Given the description of an element on the screen output the (x, y) to click on. 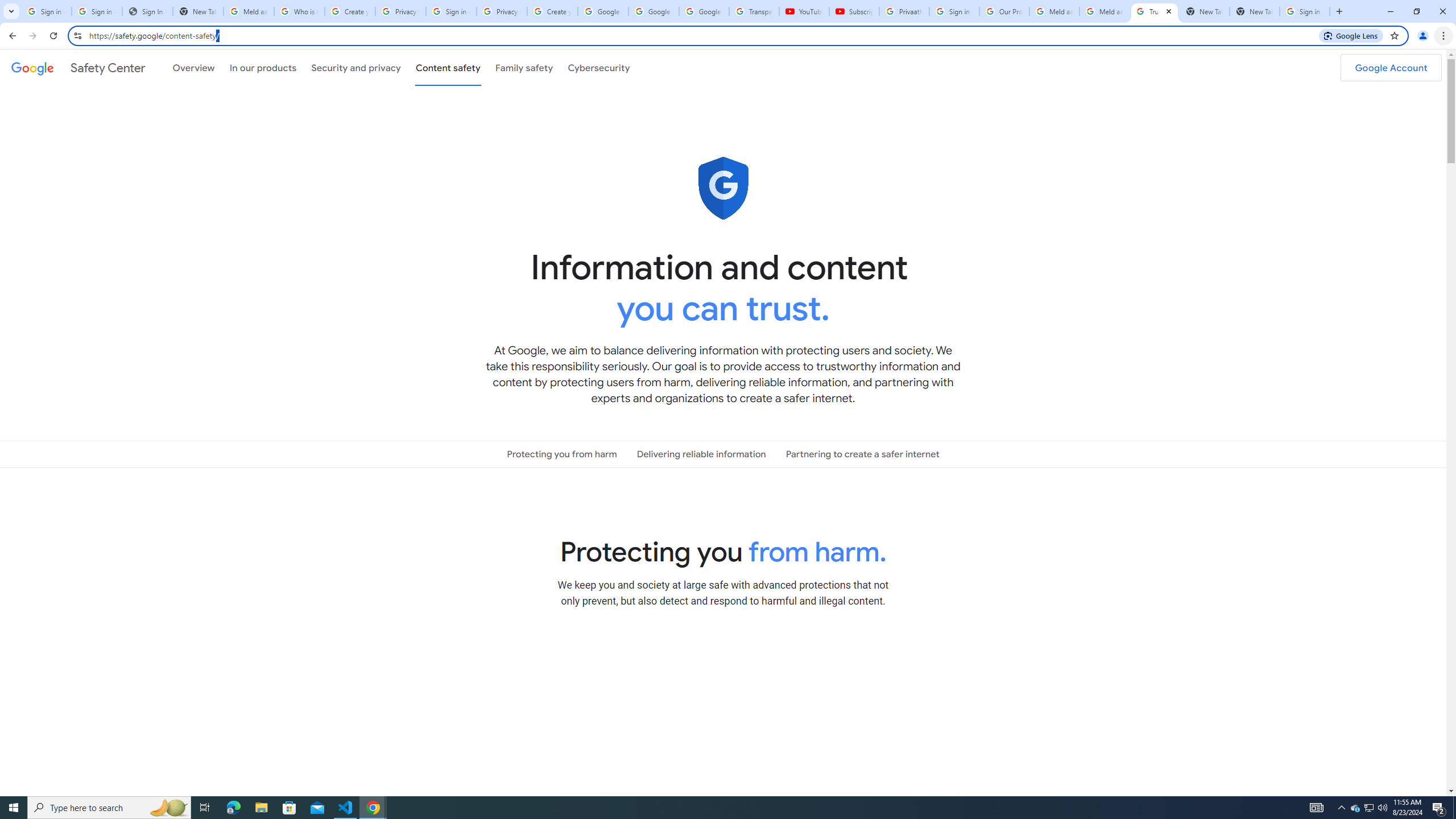
You (1422, 35)
Family safety (523, 67)
Forward (32, 35)
Create your Google Account (552, 11)
View site information (77, 35)
Search with Google Lens (1351, 35)
Security and privacy (356, 67)
Sign in - Google Accounts (97, 11)
Expand All (988, 653)
Delivering reliable information (700, 454)
Back (10, 35)
Sign in - Google Accounts (46, 11)
